Given the description of an element on the screen output the (x, y) to click on. 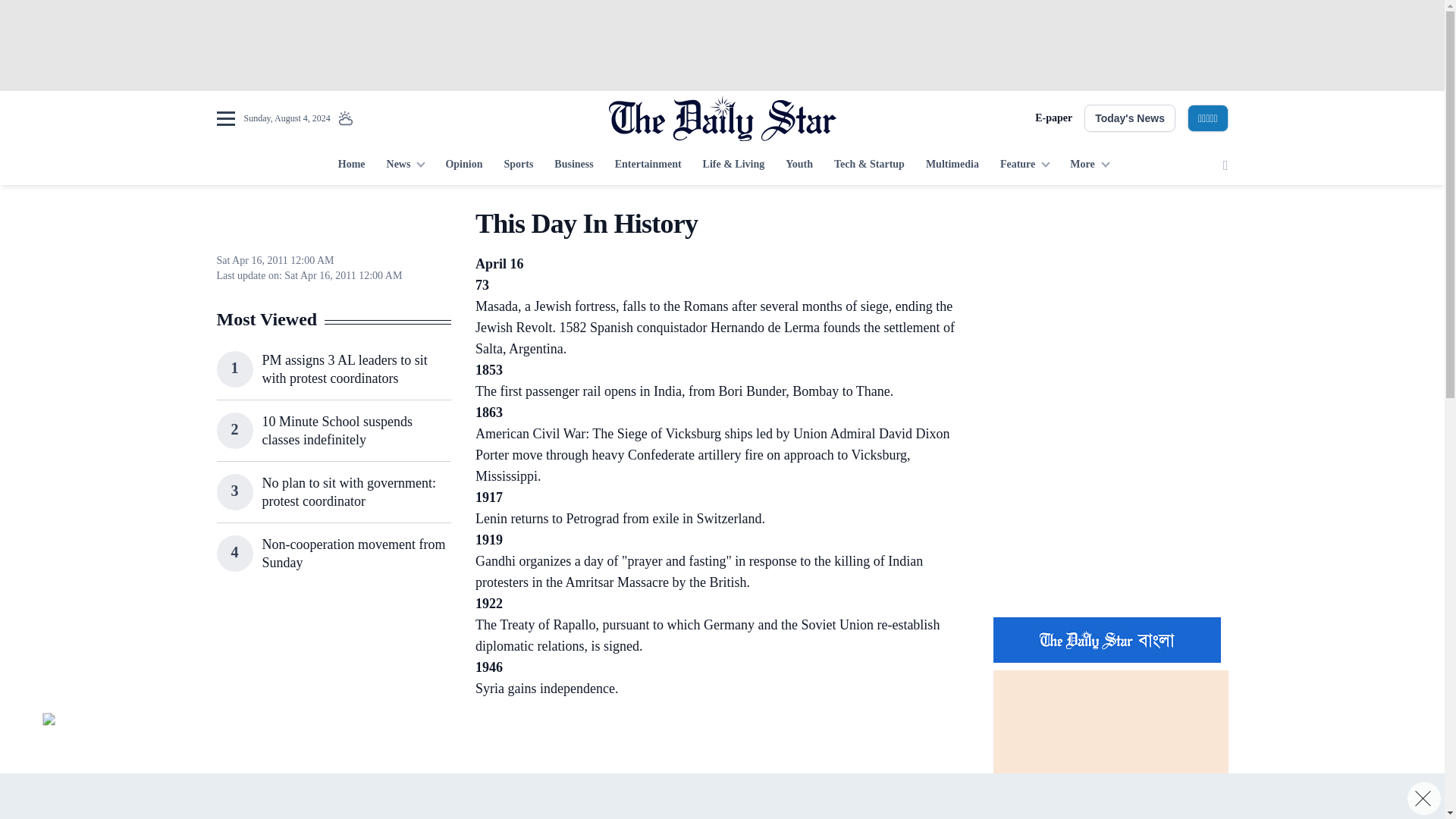
Today's News (1129, 117)
Home (351, 165)
Feature (1024, 165)
3rd party ad content (332, 698)
Youth (799, 165)
3rd party ad content (721, 45)
3rd party ad content (714, 742)
3rd party ad content (1110, 506)
Business (573, 165)
Opinion (463, 165)
Entertainment (647, 165)
3rd party ad content (721, 796)
3rd party ad content (332, 813)
3rd party ad content (1110, 302)
